Given the description of an element on the screen output the (x, y) to click on. 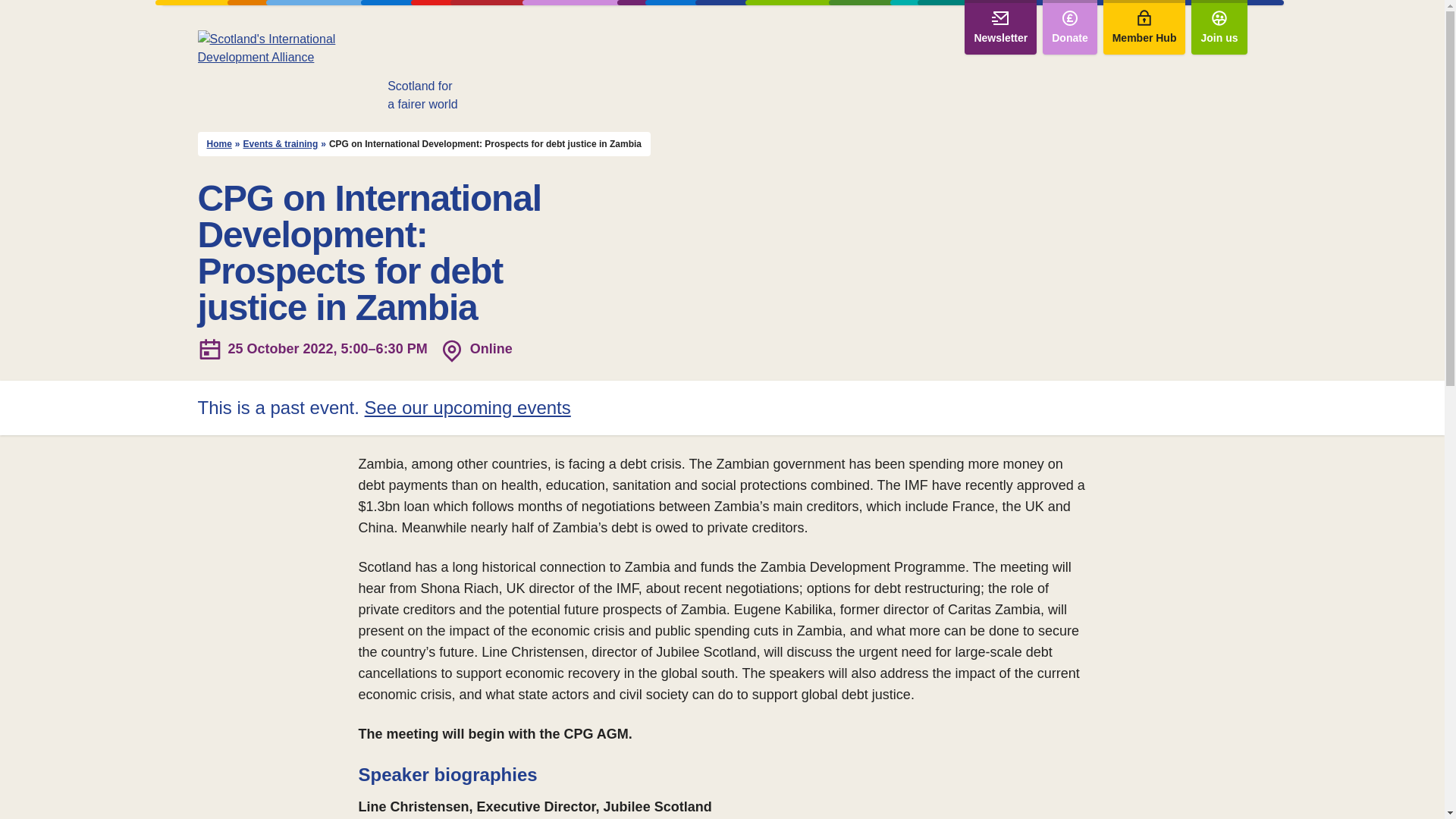
Go to Scotland's International Development Alliance. (218, 143)
